Given the description of an element on the screen output the (x, y) to click on. 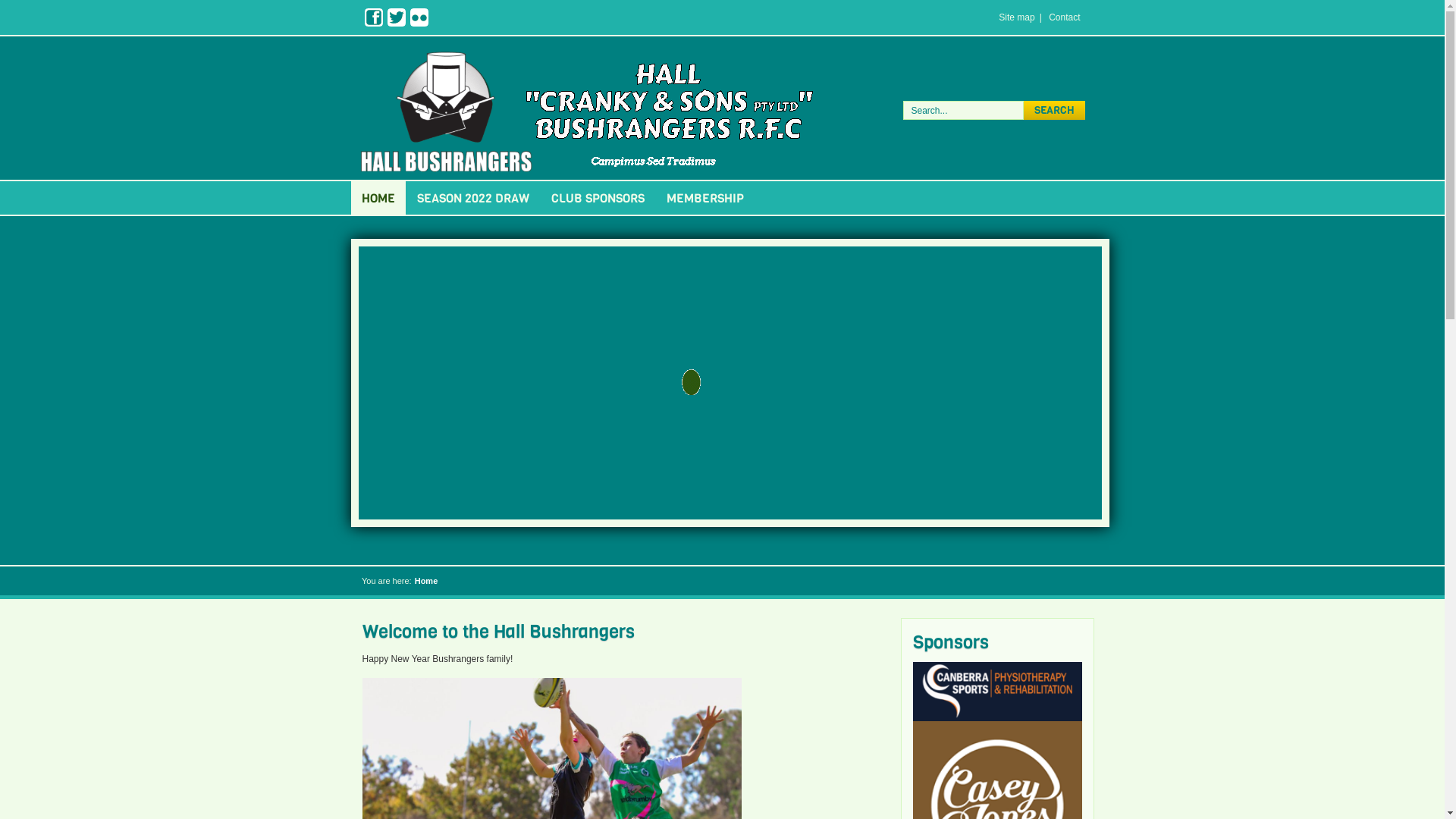
MEMBERSHIP Element type: text (704, 198)
Contact Element type: text (1063, 17)
CLUB SPONSORS Element type: text (596, 198)
SEASON 2022 DRAW Element type: text (472, 198)
Follow us on Flickr Element type: hover (418, 17)
Follow us on Facebook Element type: hover (373, 17)
Site map Element type: text (1016, 17)
Follow us on Twitter Element type: hover (395, 17)
Search Element type: text (1054, 109)
Canberra sports physiotherapy and rehabilitation Element type: hover (997, 717)
HOME Element type: text (377, 198)
